Given the description of an element on the screen output the (x, y) to click on. 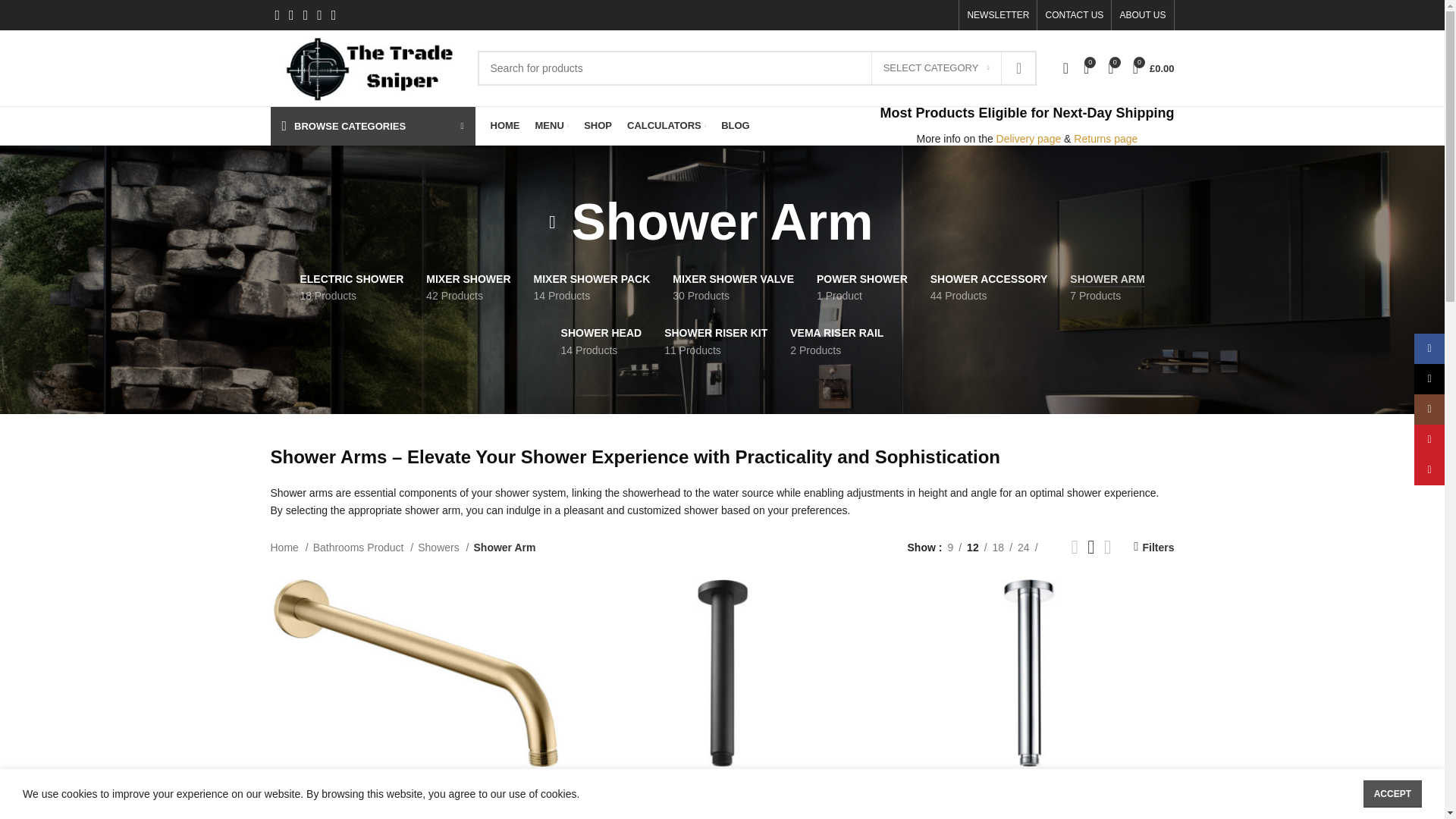
CONTACT US (1074, 15)
My account (1065, 68)
Shopping cart (1153, 68)
SELECT CATEGORY (935, 68)
My Wishlist (1085, 68)
ABOUT US (1142, 15)
NEWSLETTER (997, 15)
SELECT CATEGORY (935, 68)
Compare products (1110, 68)
Search for products (756, 67)
